Given the description of an element on the screen output the (x, y) to click on. 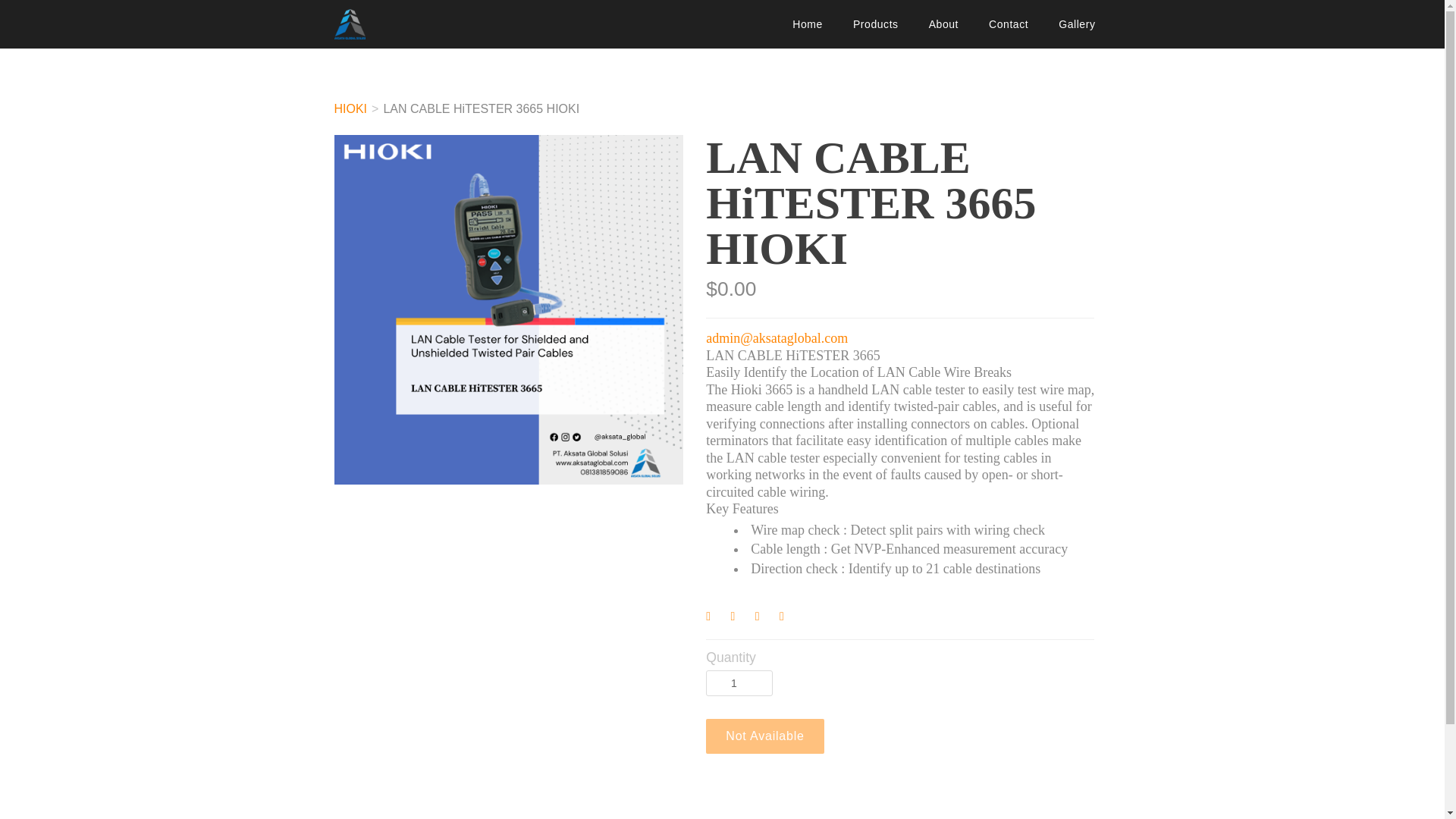
Contact (1008, 24)
Products (876, 24)
Twitter (739, 618)
1 (739, 683)
Home (807, 24)
HIOKI (349, 108)
Pinterest (764, 618)
Gallery (1076, 24)
Share on Twitter (739, 618)
About (944, 24)
Facebook (714, 618)
Share on Pinterest (764, 618)
Share on Facebook (714, 618)
Not Available (765, 736)
